Given the description of an element on the screen output the (x, y) to click on. 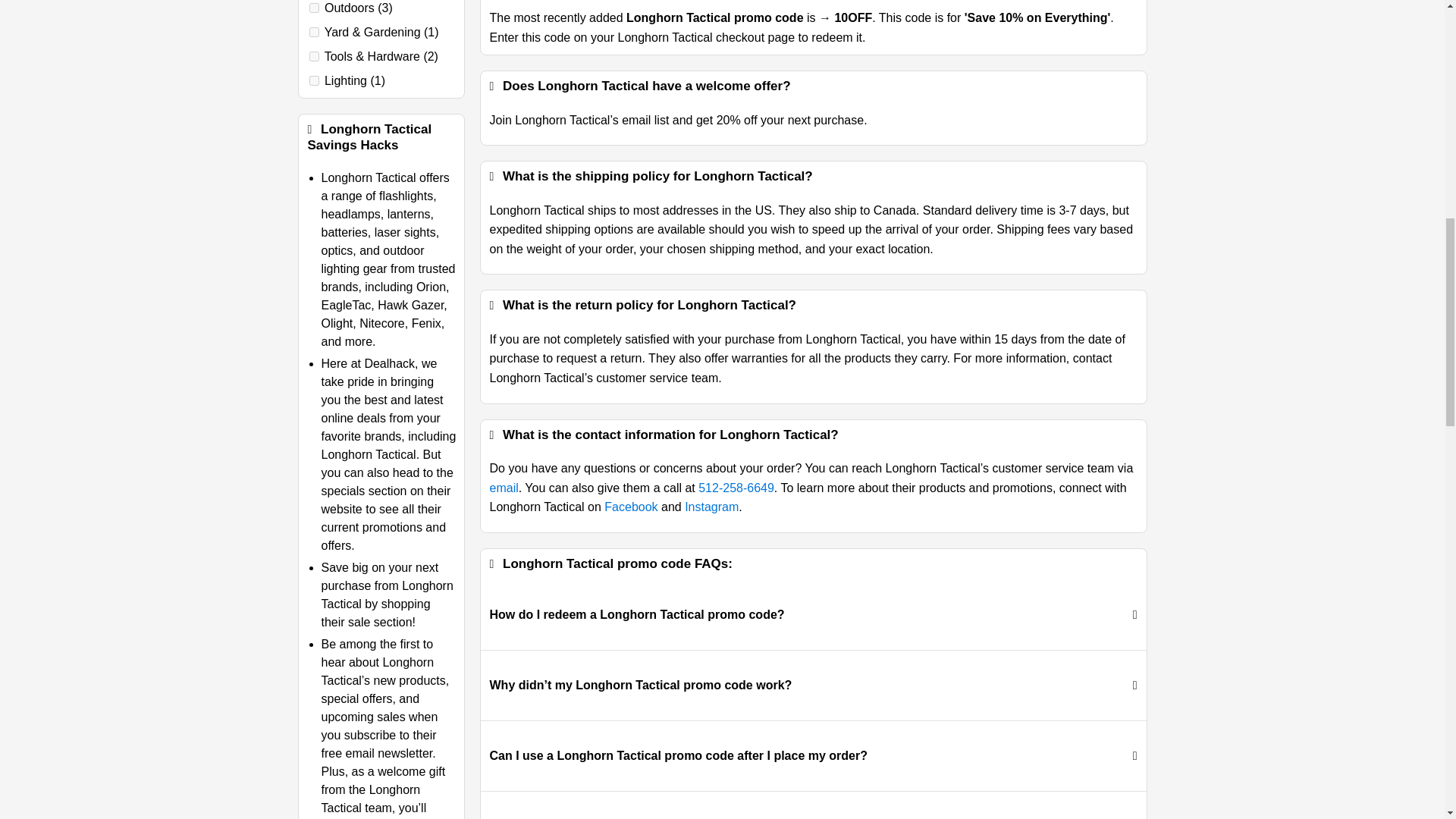
lighting (313, 80)
outdoors (313, 8)
yard-garden (313, 31)
tools-hardware (313, 56)
